Given the description of an element on the screen output the (x, y) to click on. 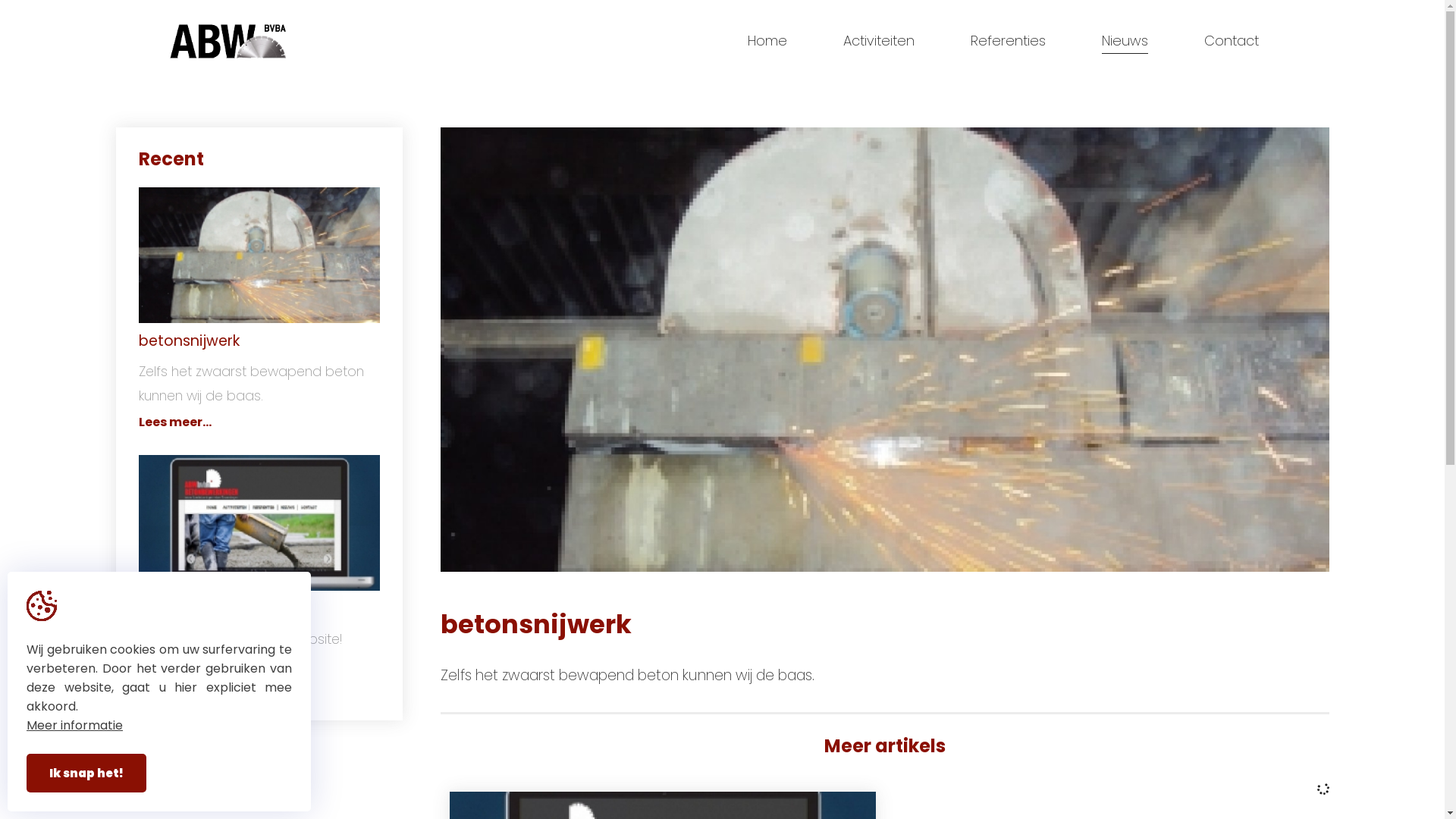
Activiteiten Element type: text (878, 40)
Ik snap het! Element type: text (86, 772)
Referenties Element type: text (1007, 40)
Betonsnijwerk - Artikel - A.B.W. Betonbewerkingen Element type: hover (258, 522)
Contact Element type: text (1231, 40)
Nieuws Element type: text (1124, 40)
Home Element type: text (767, 40)
Meer informatie Element type: text (74, 725)
